Given the description of an element on the screen output the (x, y) to click on. 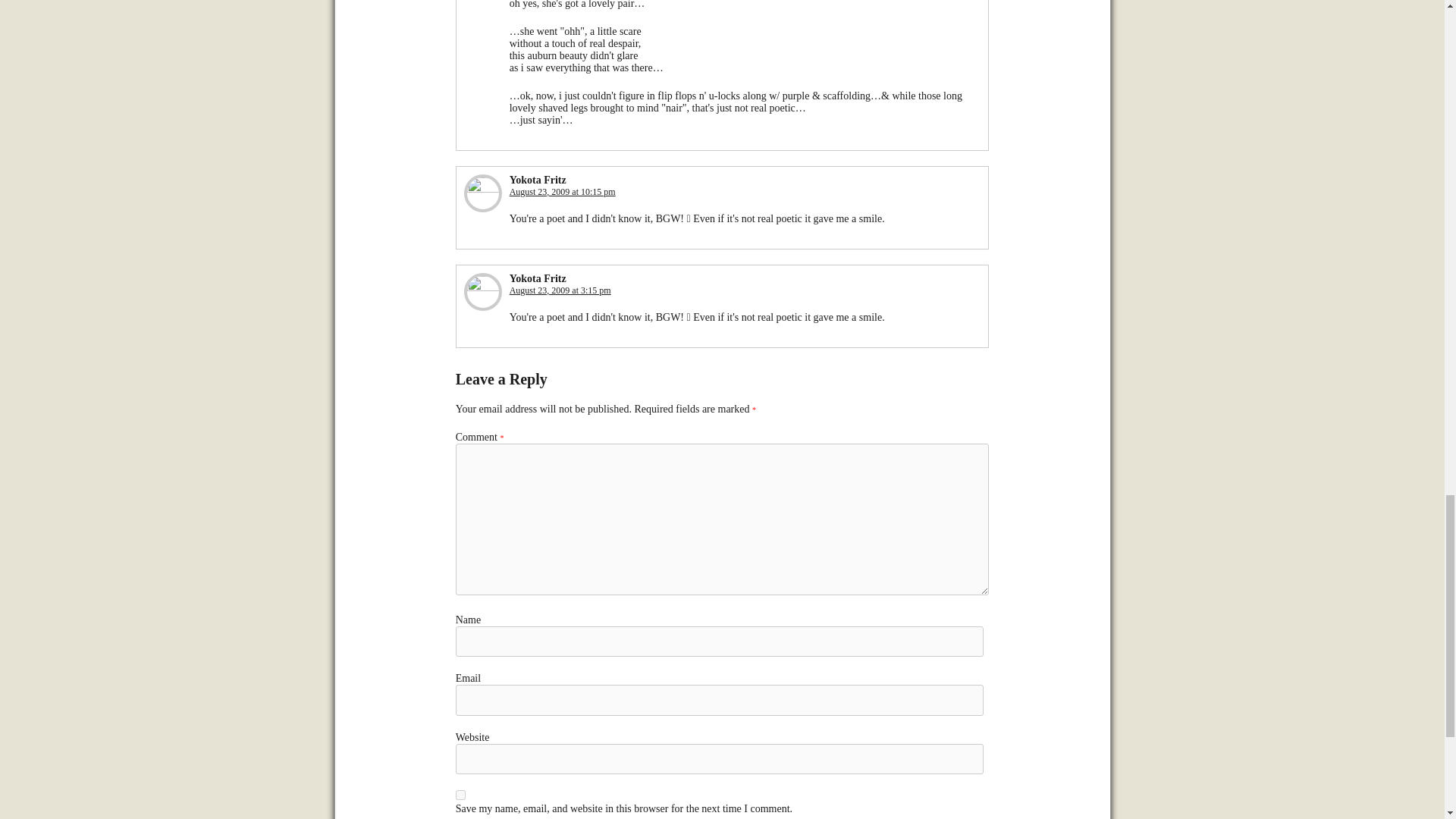
yes (460, 795)
August 23, 2009 at 10:15 pm (562, 191)
August 23, 2009 at 3:15 pm (560, 290)
